Given the description of an element on the screen output the (x, y) to click on. 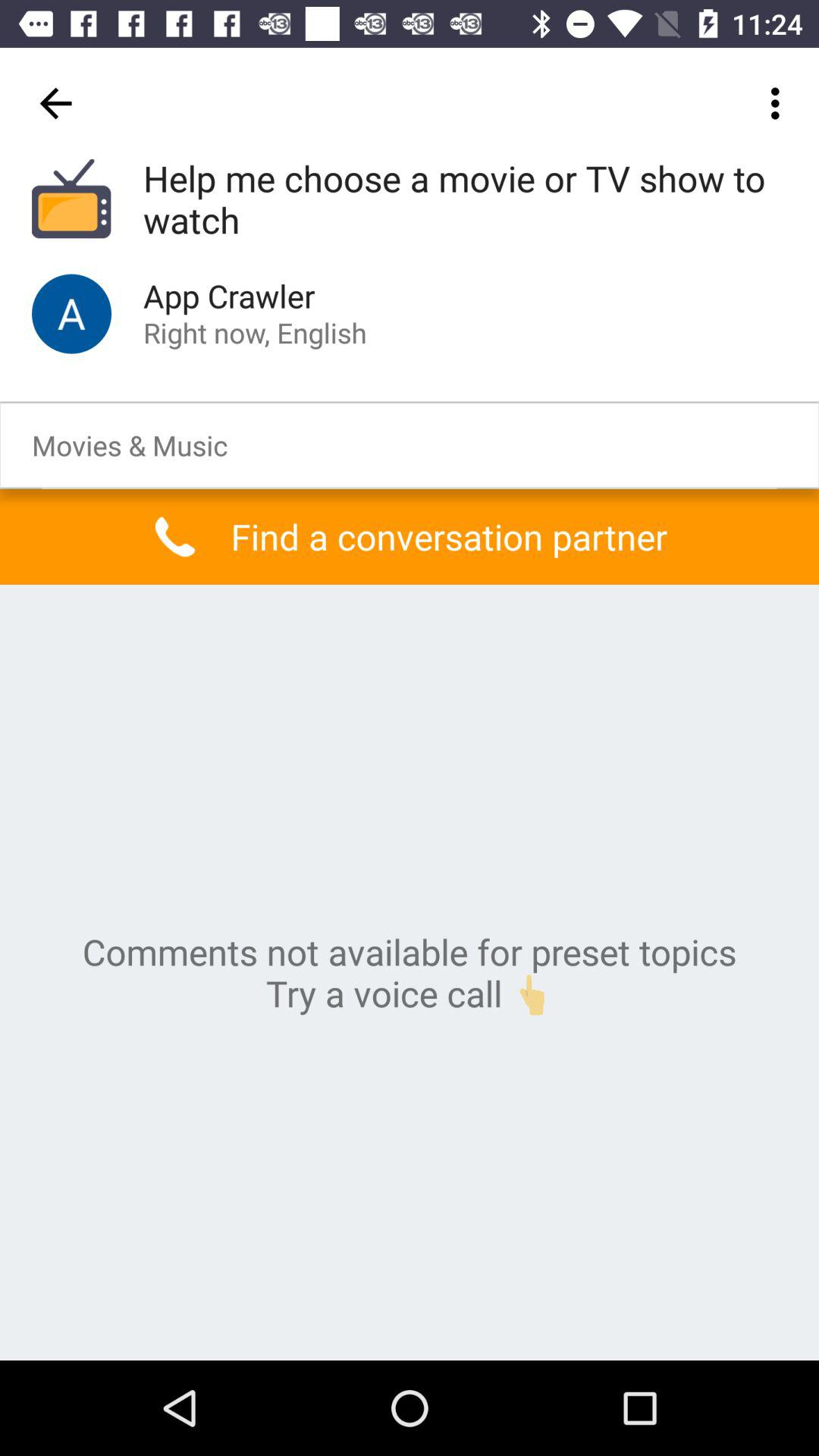
open the help me choose (465, 200)
